Given the description of an element on the screen output the (x, y) to click on. 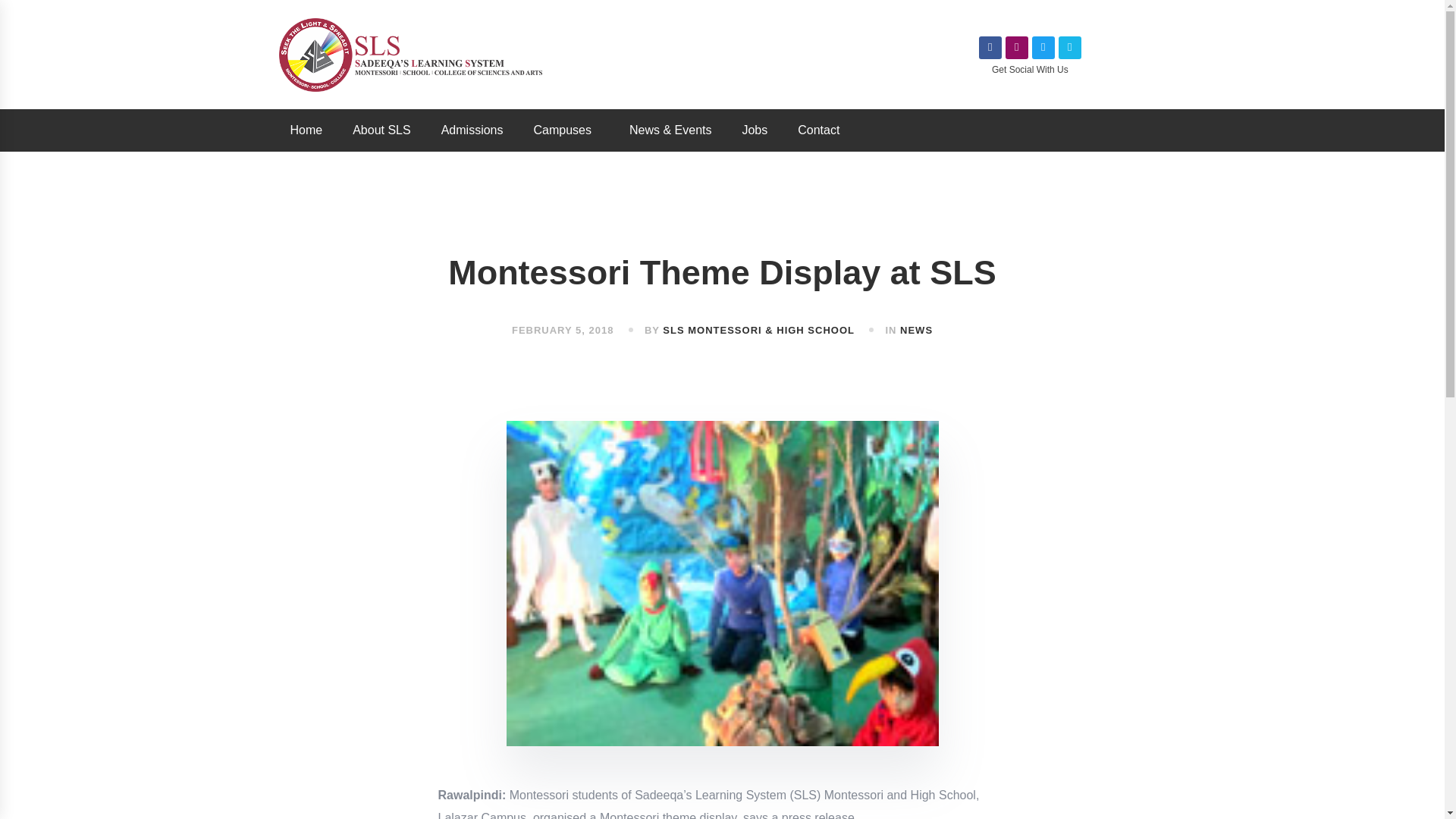
Campuses (566, 129)
Admissions (472, 129)
Home (306, 129)
NEWS (916, 329)
Contact (818, 129)
About SLS (381, 129)
Jobs (754, 129)
